Given the description of an element on the screen output the (x, y) to click on. 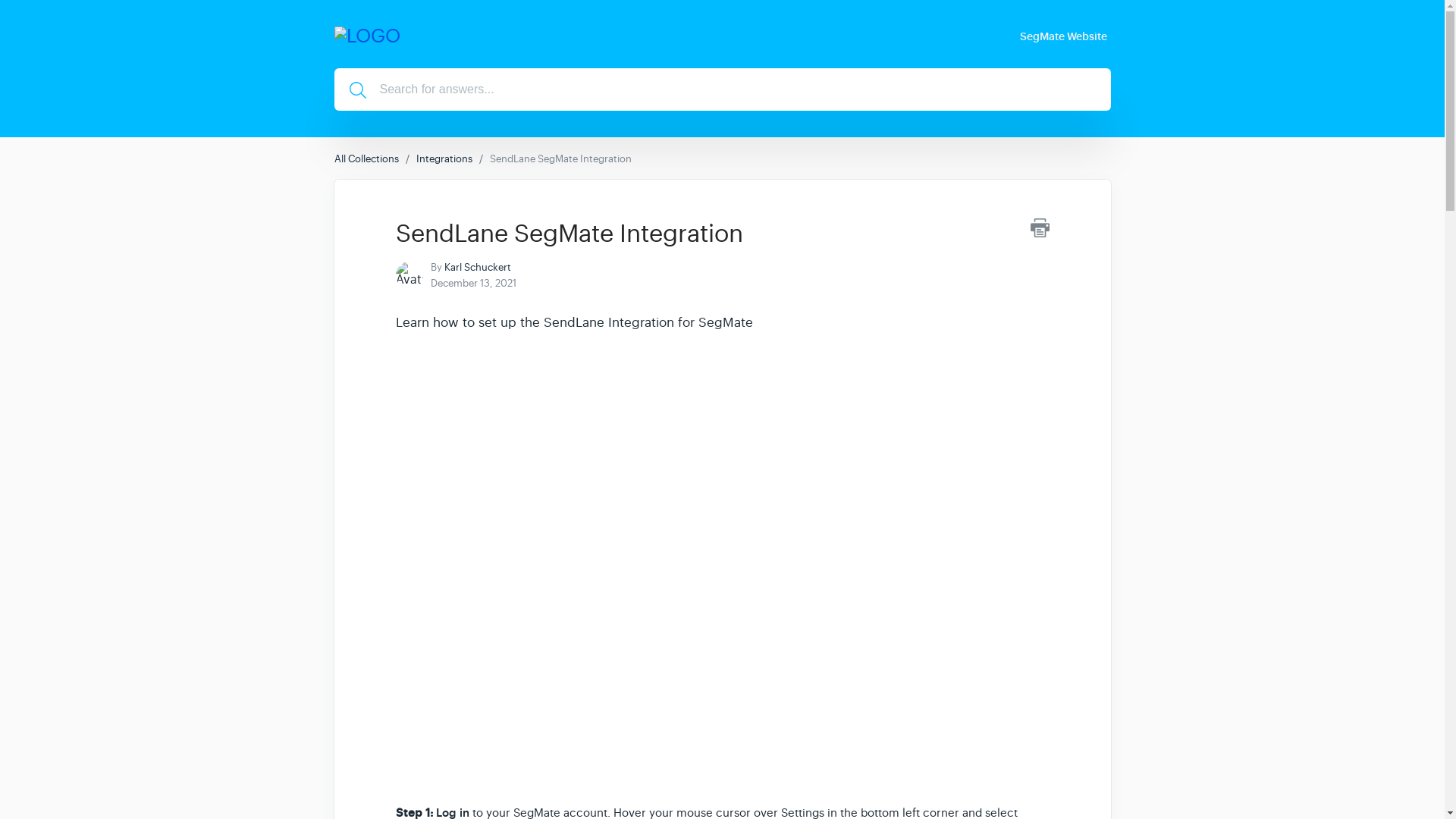
SegMate Website (1064, 35)
Integrations (442, 158)
All Collections (365, 158)
